Given the description of an element on the screen output the (x, y) to click on. 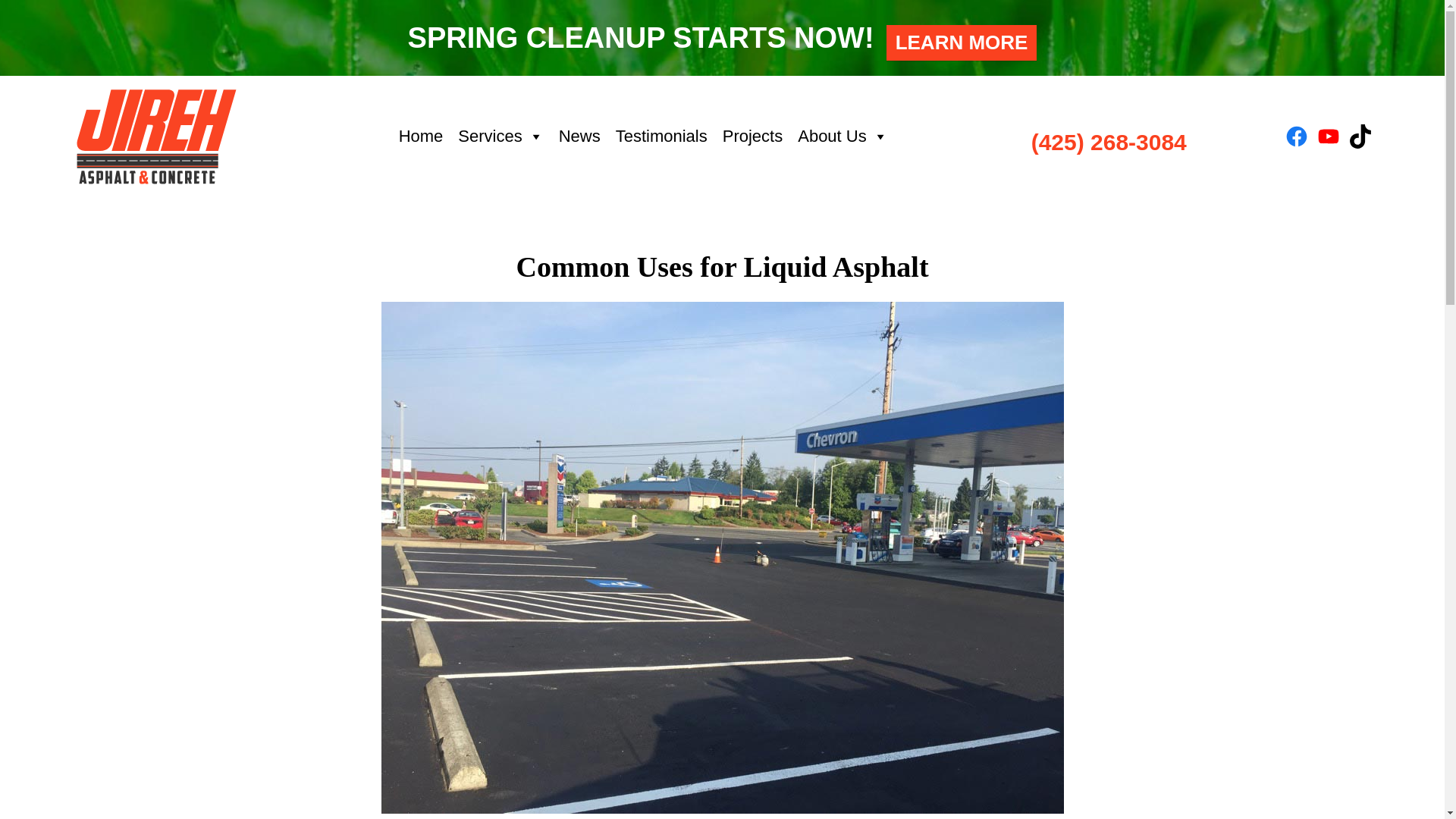
Services (499, 136)
Facebook (1296, 136)
Home (421, 136)
News (579, 136)
YouTube (1328, 136)
LEARN MORE (961, 42)
About Us (842, 136)
TikTok (1360, 136)
Projects (752, 136)
